Given the description of an element on the screen output the (x, y) to click on. 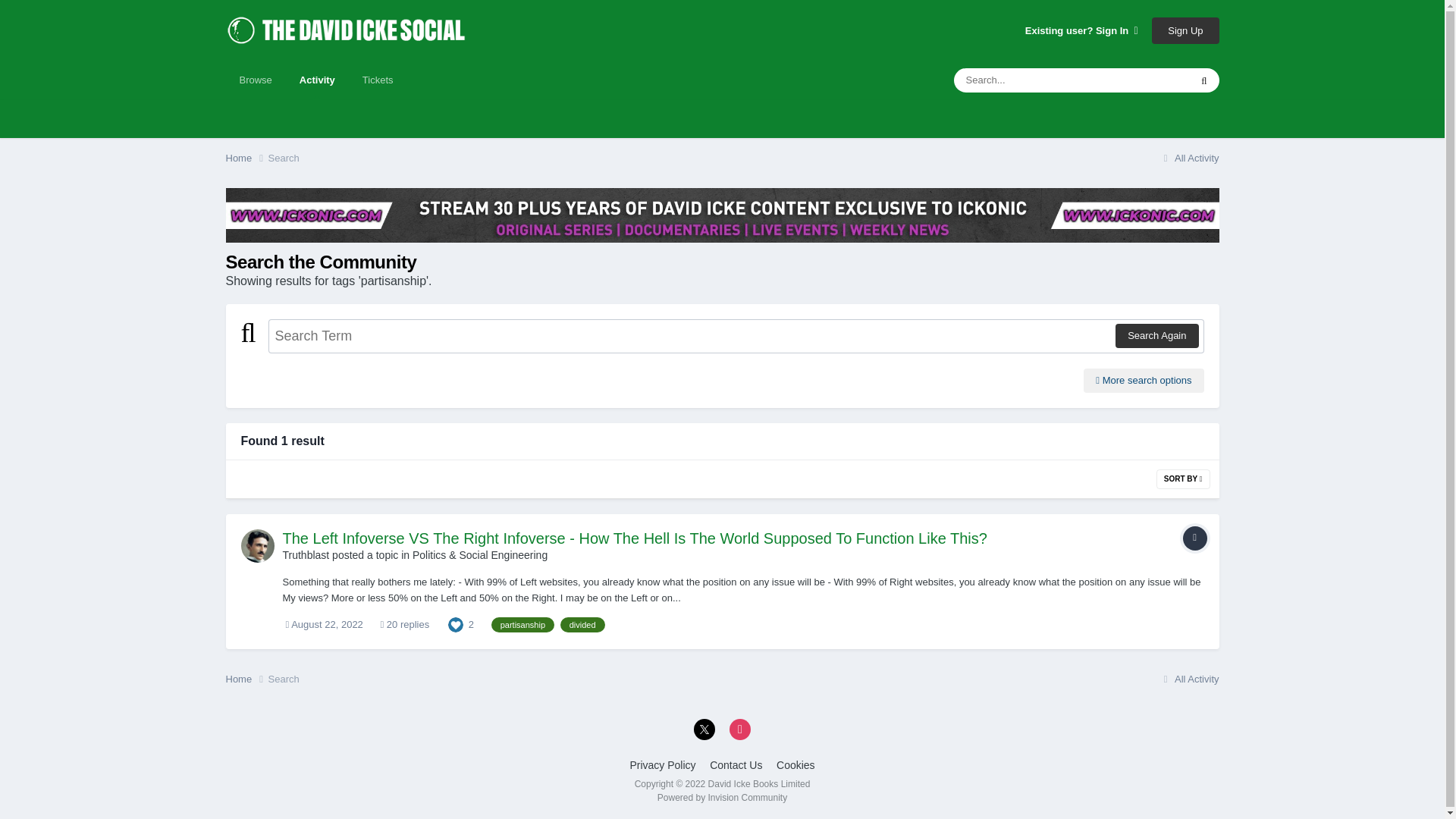
Sign Up (1184, 29)
Home (246, 158)
Go to Truthblast's profile (305, 554)
Like (455, 624)
Home (246, 679)
All Activity (1188, 157)
Home (246, 158)
Existing user? Sign In   (1081, 30)
Tickets (378, 79)
Browse (255, 79)
Find other content tagged with 'partisanship' (523, 624)
Invision Community (722, 797)
Go to Truthblast's profile (258, 545)
Topic (1194, 538)
Activity (317, 79)
